Given the description of an element on the screen output the (x, y) to click on. 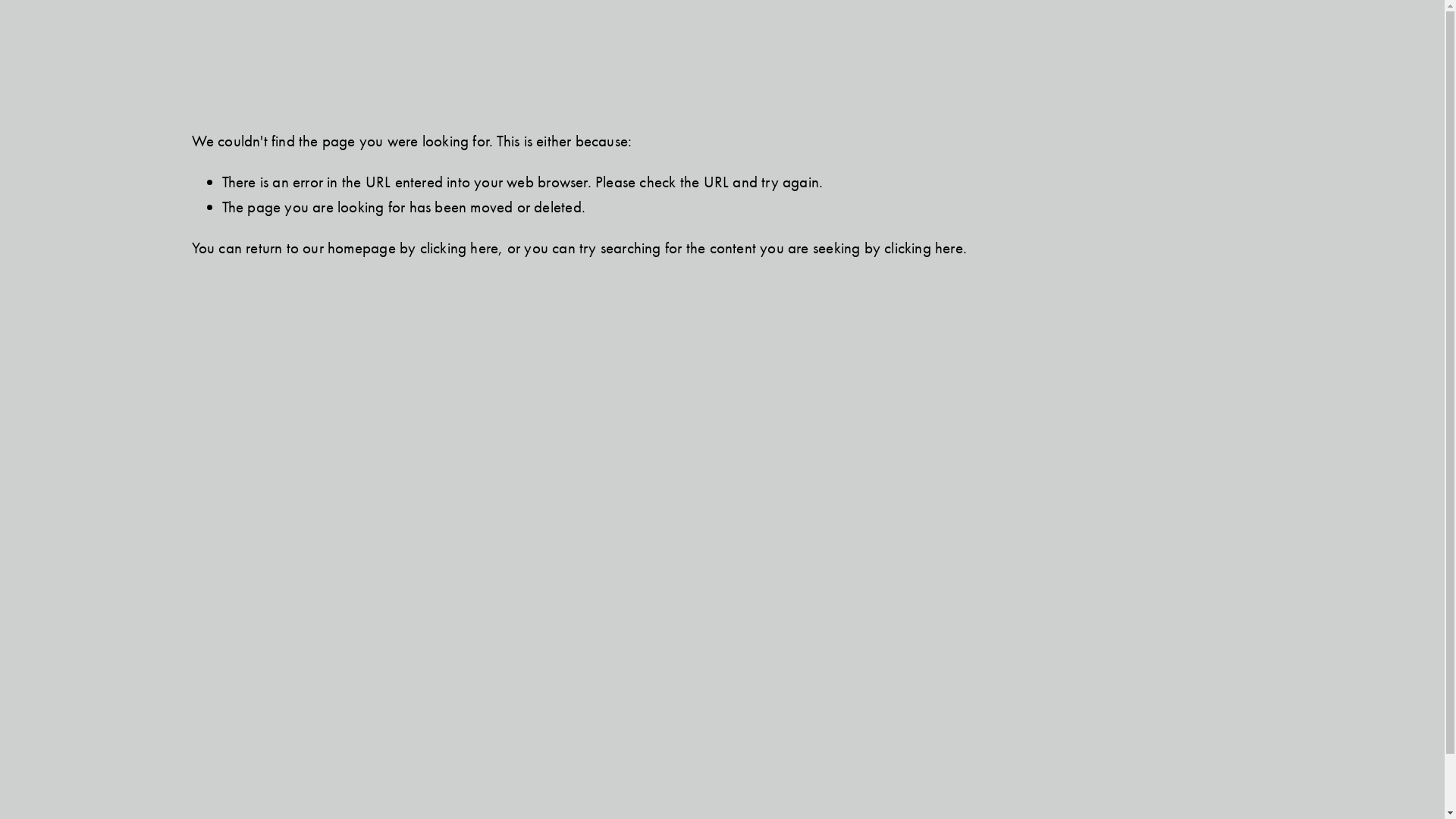
clicking here Element type: text (923, 247)
clicking here Element type: text (459, 247)
